Given the description of an element on the screen output the (x, y) to click on. 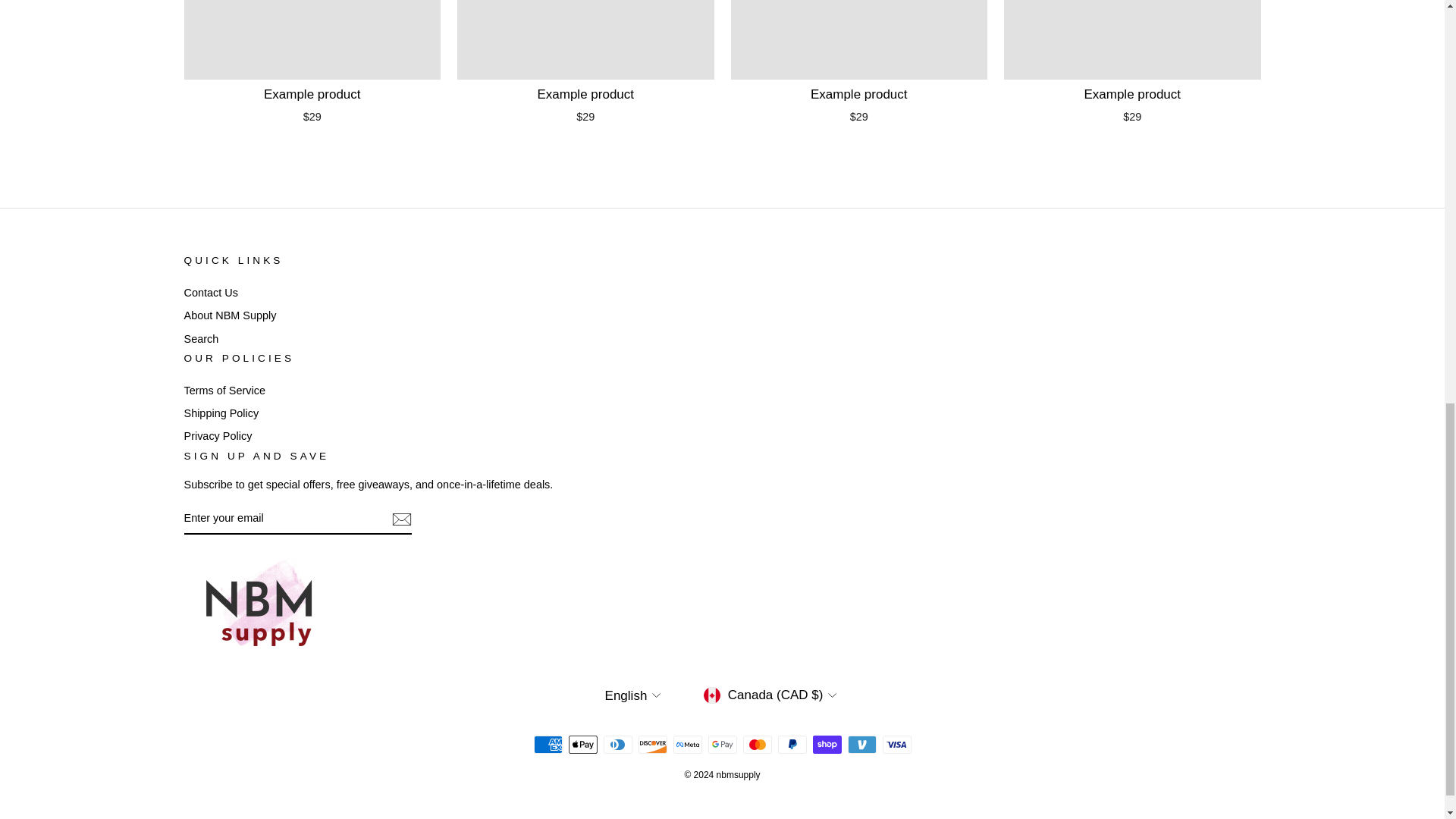
PayPal (791, 744)
Meta Pay (686, 744)
Diners Club (617, 744)
Shop Pay (826, 744)
Discover (652, 744)
Apple Pay (582, 744)
American Express (548, 744)
Mastercard (756, 744)
Google Pay (721, 744)
